Given the description of an element on the screen output the (x, y) to click on. 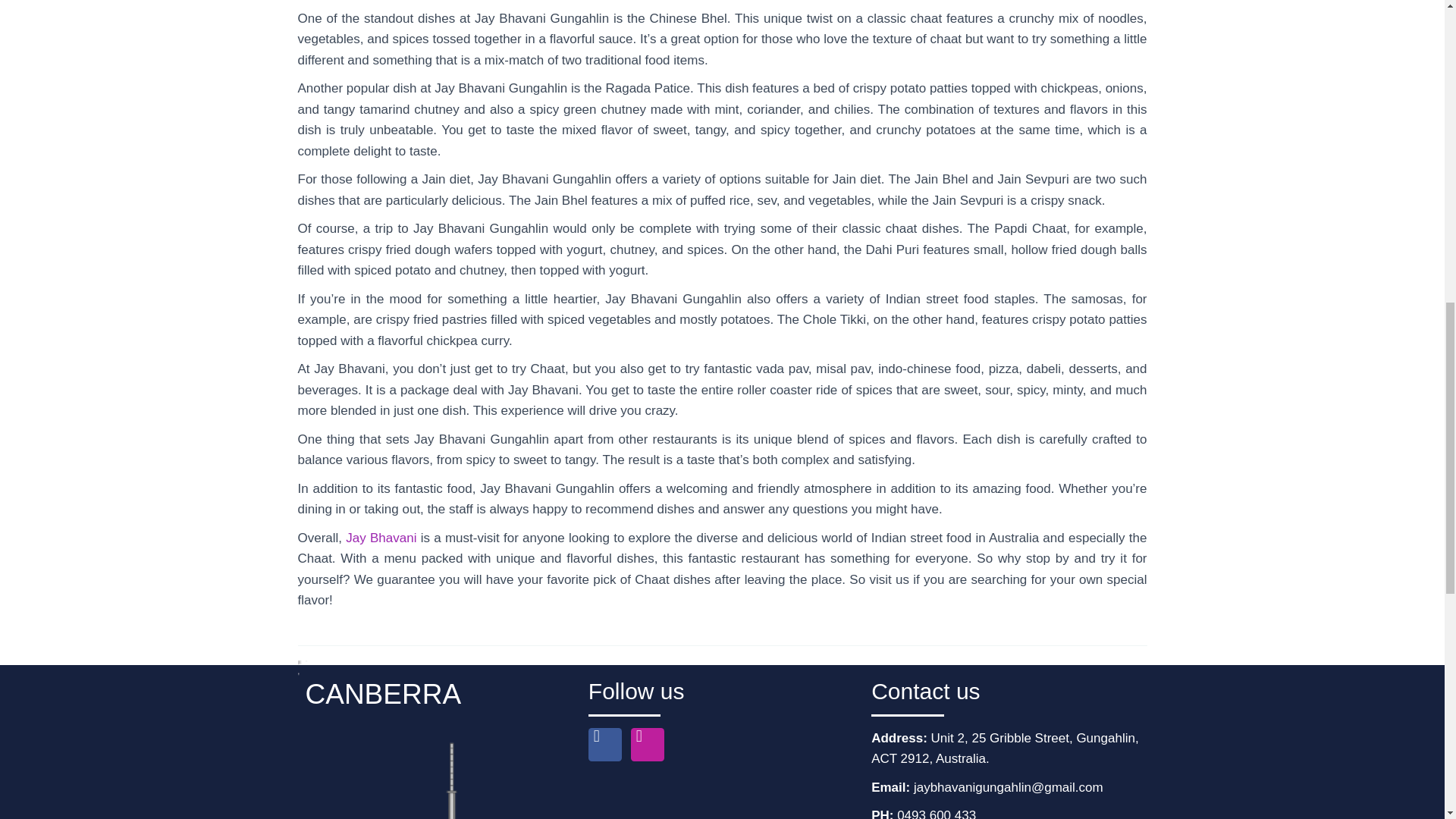
Jay Bhavani (381, 537)
